Given the description of an element on the screen output the (x, y) to click on. 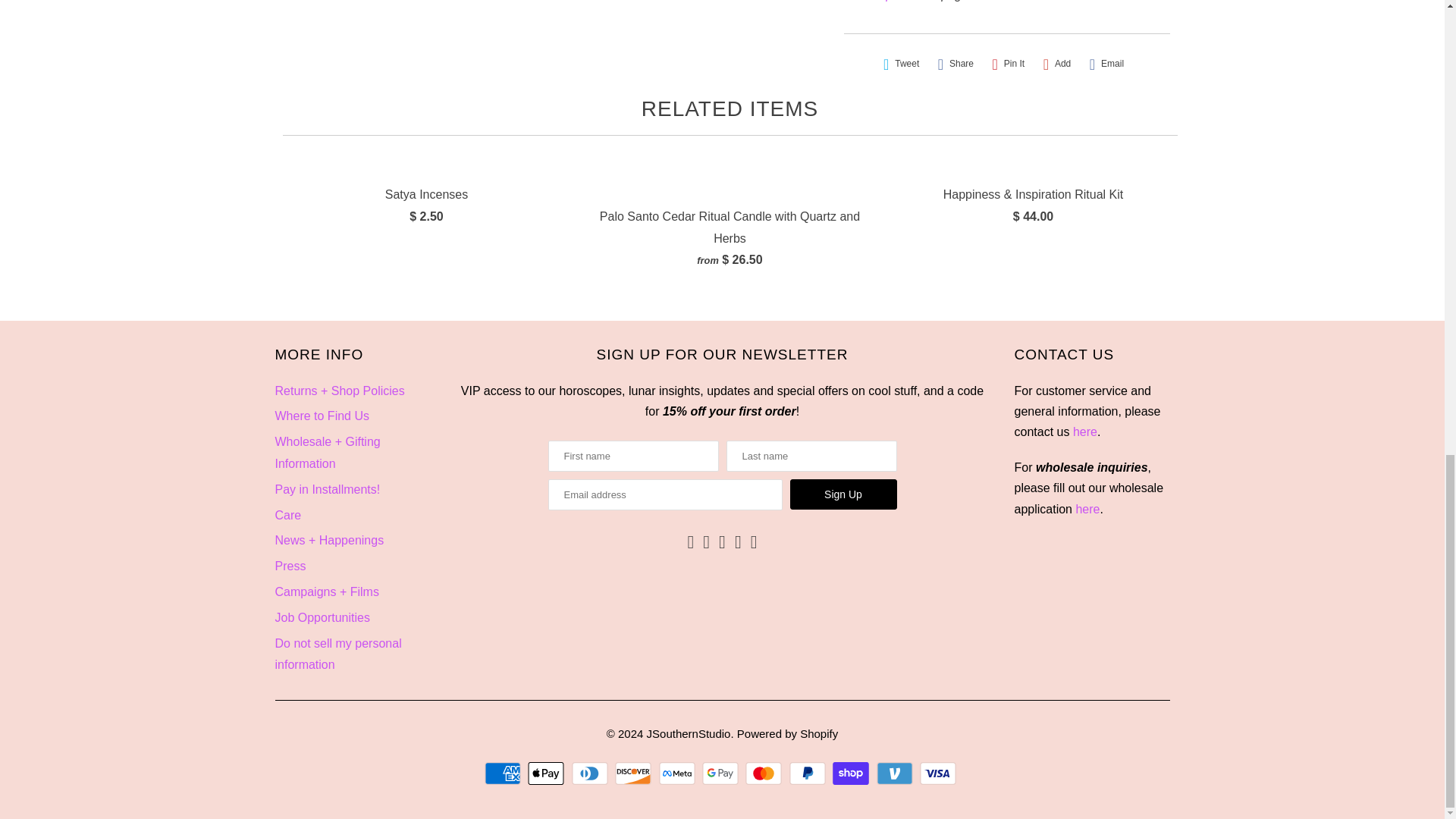
Venmo (896, 773)
Shop Pay (852, 773)
Sign Up (843, 494)
Shop Policies (900, 0)
Mastercard (765, 773)
Apple Pay (547, 773)
Share this on Facebook (955, 63)
Diners Club (591, 773)
American Express (504, 773)
Discover (634, 773)
PayPal (809, 773)
Meta Pay (678, 773)
Share this on Twitter (901, 63)
Share this on Pinterest (1008, 63)
Email this to a friend (1106, 63)
